Given the description of an element on the screen output the (x, y) to click on. 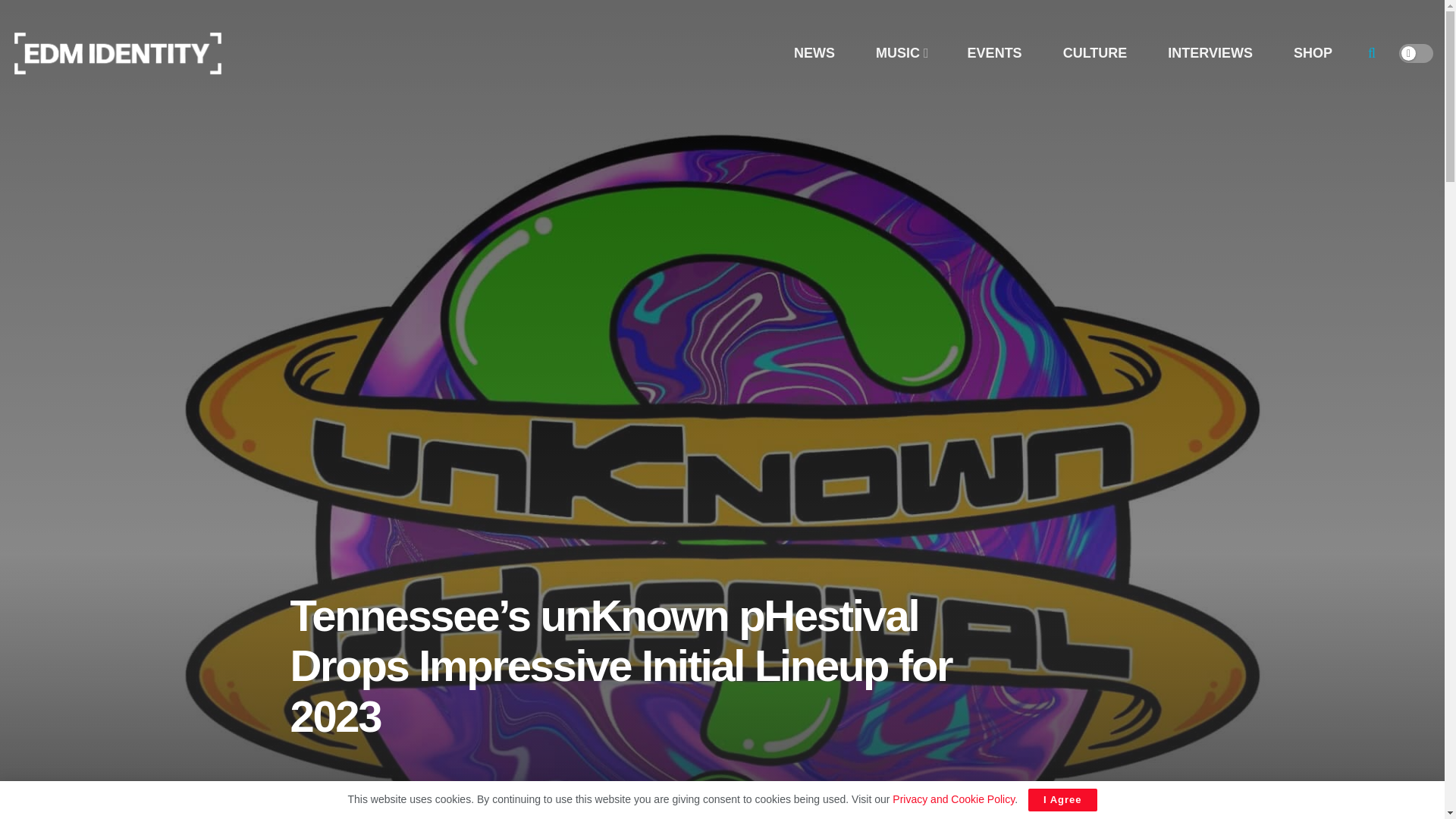
NEWS (814, 53)
CULTURE (1095, 53)
SHOP (1312, 53)
Festival News (590, 814)
INTERVIEWS (1210, 53)
MUSIC (901, 53)
February 1, 2023 (464, 814)
Abby Hayden (367, 814)
EVENTS (994, 53)
Events (535, 814)
